Given the description of an element on the screen output the (x, y) to click on. 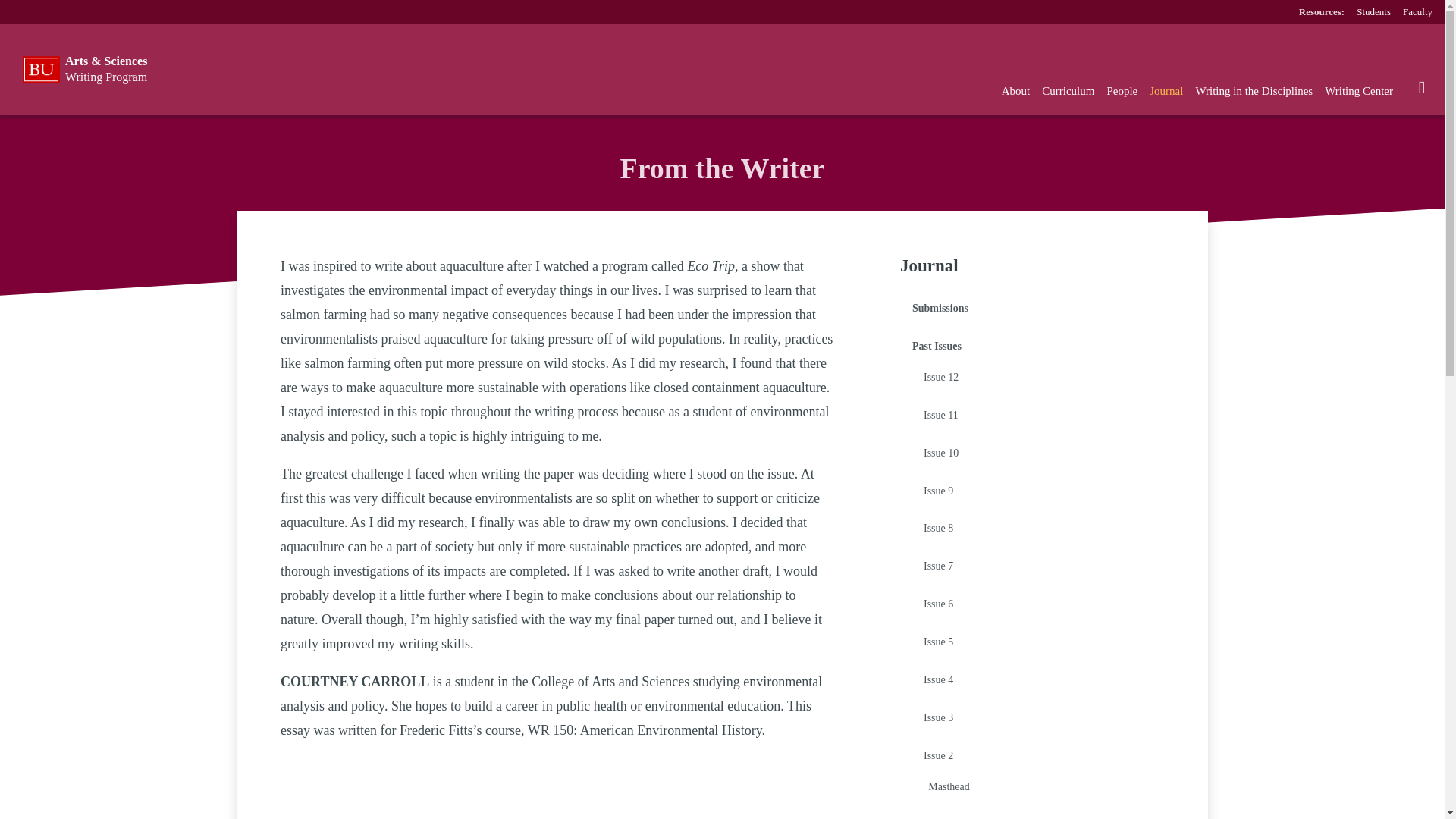
Navigate to: Curriculum (1067, 91)
People (1121, 91)
Writing Center (1359, 91)
Journal (1165, 91)
Writing in the Disciplines (1254, 91)
Curriculum (1067, 91)
Navigate to: People (1121, 91)
